Given the description of an element on the screen output the (x, y) to click on. 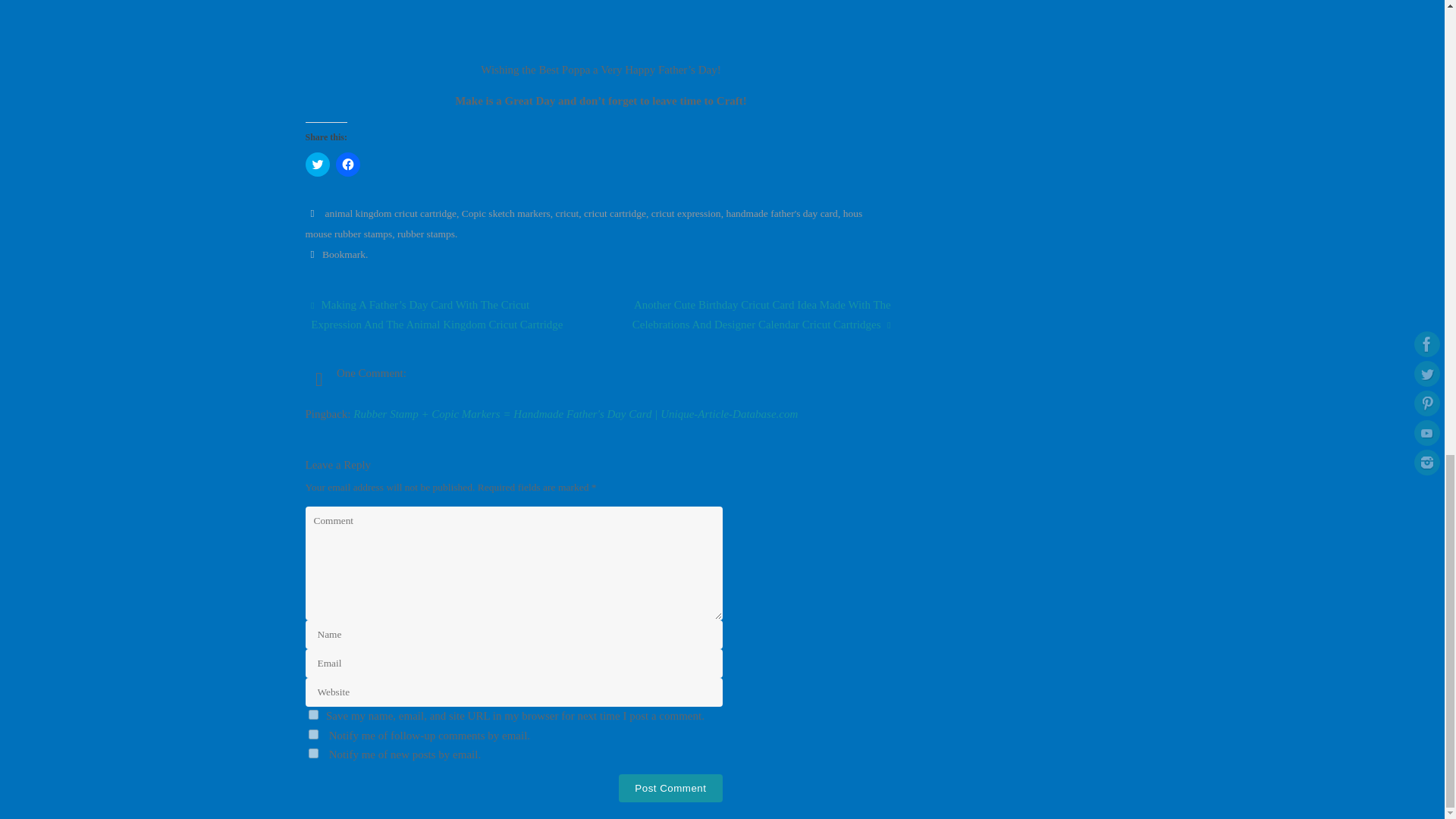
yes (312, 714)
Post Comment (670, 787)
cricut (566, 213)
Copic sketch markers (505, 213)
animal kingdom cricut cartridge (390, 213)
subscribe (312, 734)
cricut cartridge (614, 213)
subscribe (312, 753)
cricut expression (685, 213)
